Given the description of an element on the screen output the (x, y) to click on. 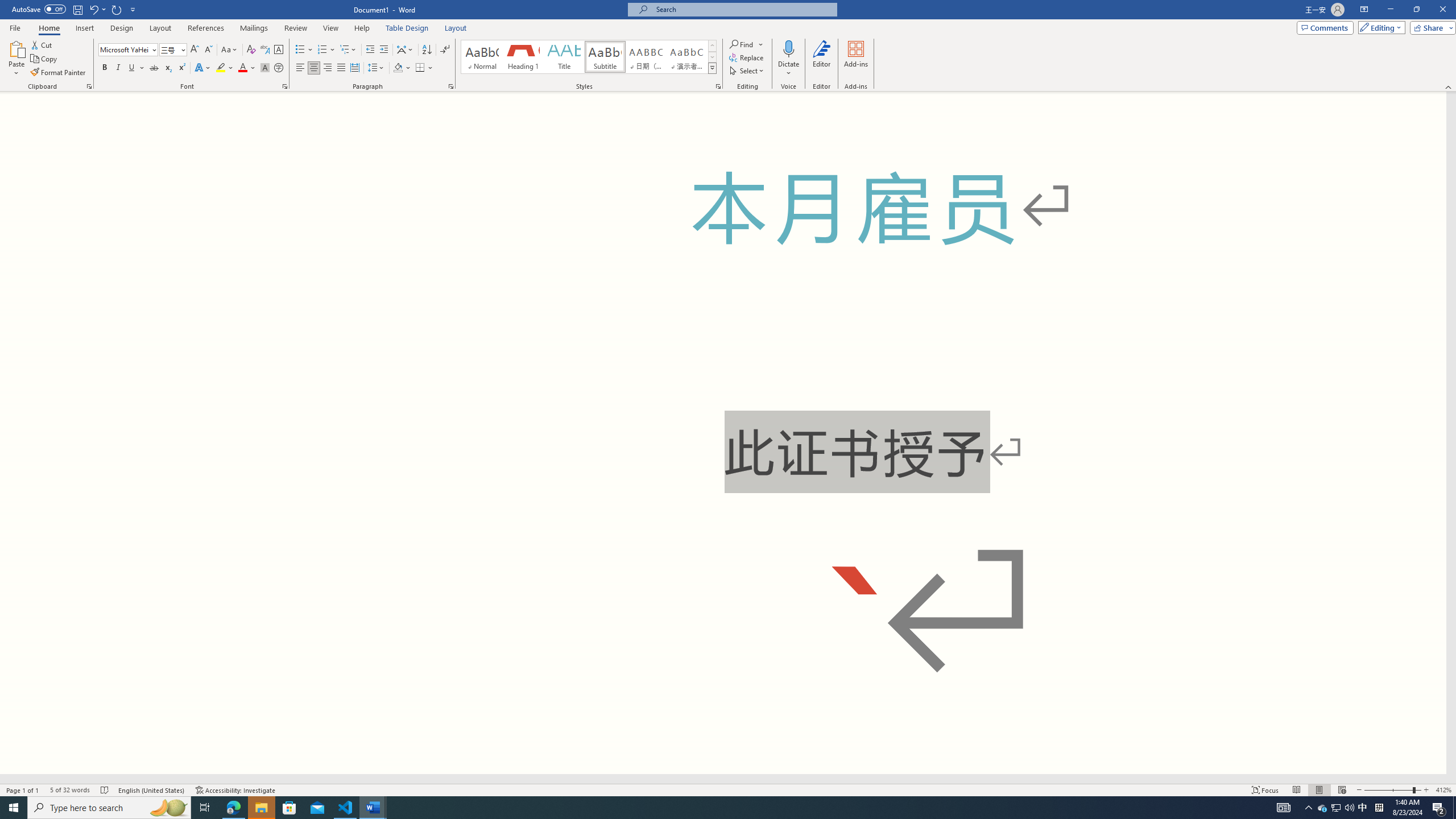
Office Clipboard... (88, 85)
Class: MsoCommandBar (728, 45)
Zoom In (1426, 790)
Bold (104, 67)
Sort... (426, 49)
Font Size (169, 49)
References (205, 28)
System (6, 6)
Focus  (1265, 790)
Bullets (300, 49)
Dictate (788, 58)
Read Mode (1296, 790)
Page Number Page 1 of 1 (22, 790)
Comments (1325, 27)
